Given the description of an element on the screen output the (x, y) to click on. 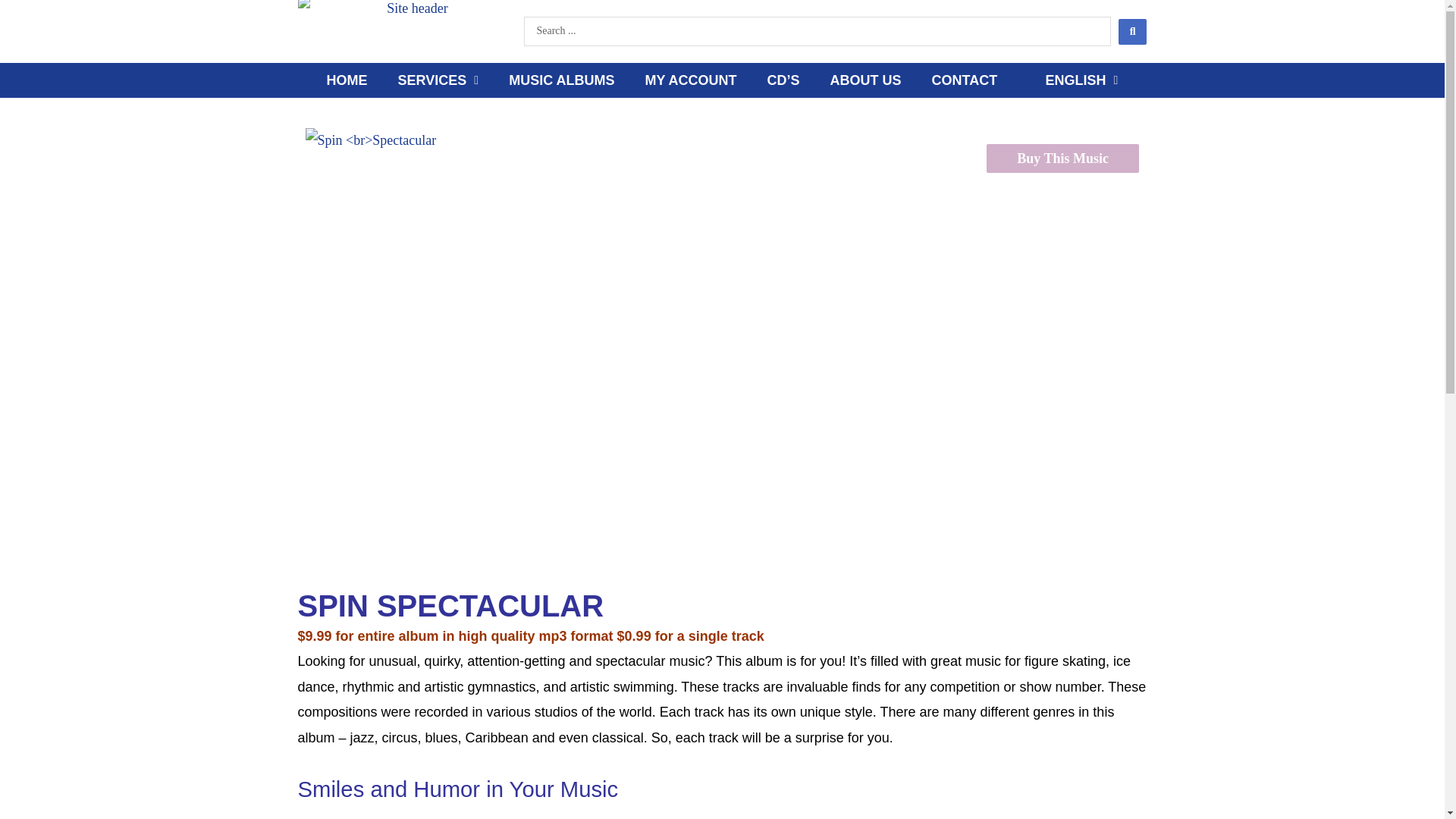
ENGLISH (1071, 80)
HOME (346, 80)
Site header (410, 34)
English (1071, 80)
SERVICES (438, 80)
ABOUT US (864, 80)
MUSIC ALBUMS (560, 80)
MY ACCOUNT (689, 80)
CONTACT (963, 80)
